Given the description of an element on the screen output the (x, y) to click on. 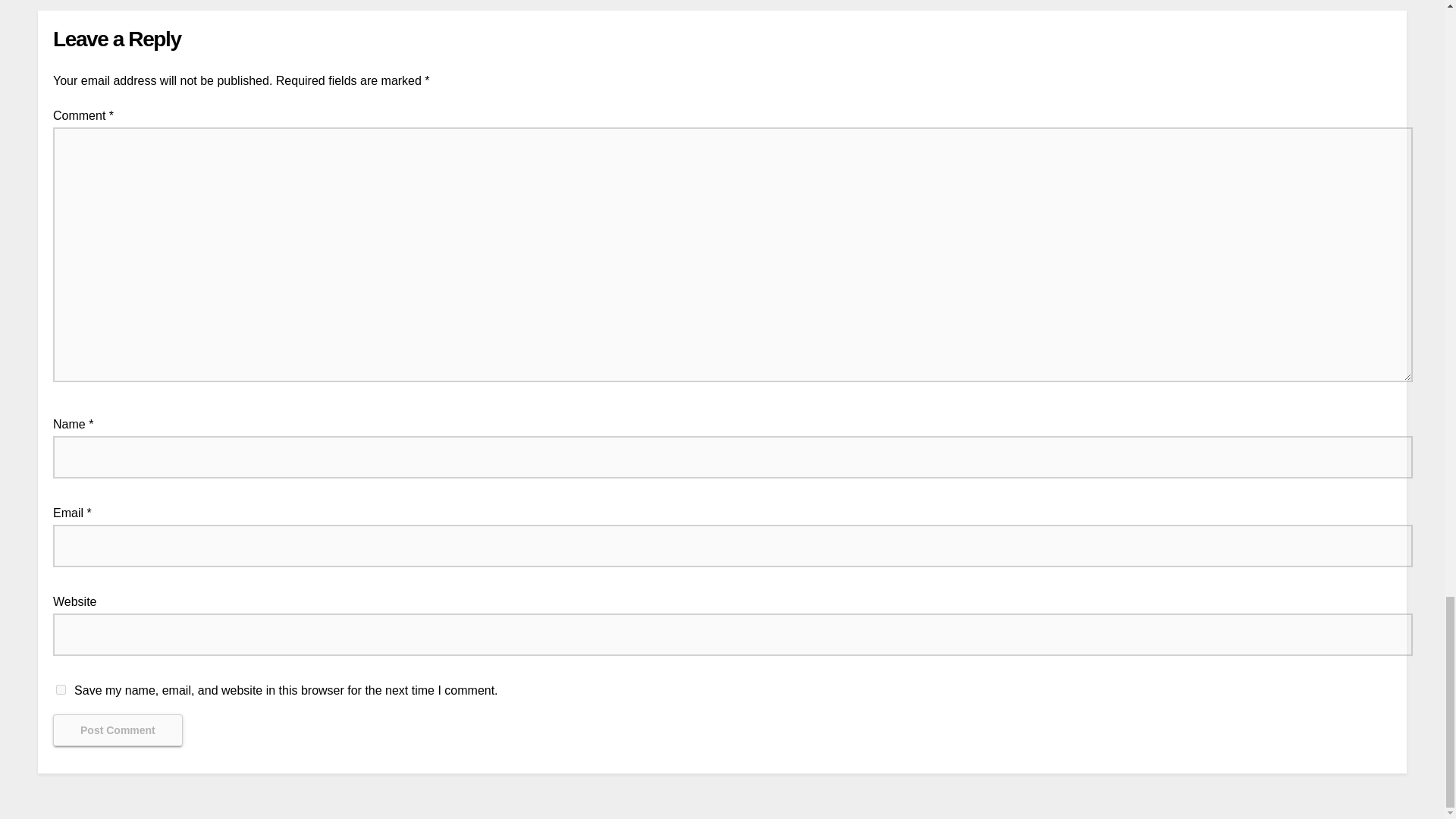
Post Comment (117, 730)
yes (60, 689)
